Given the description of an element on the screen output the (x, y) to click on. 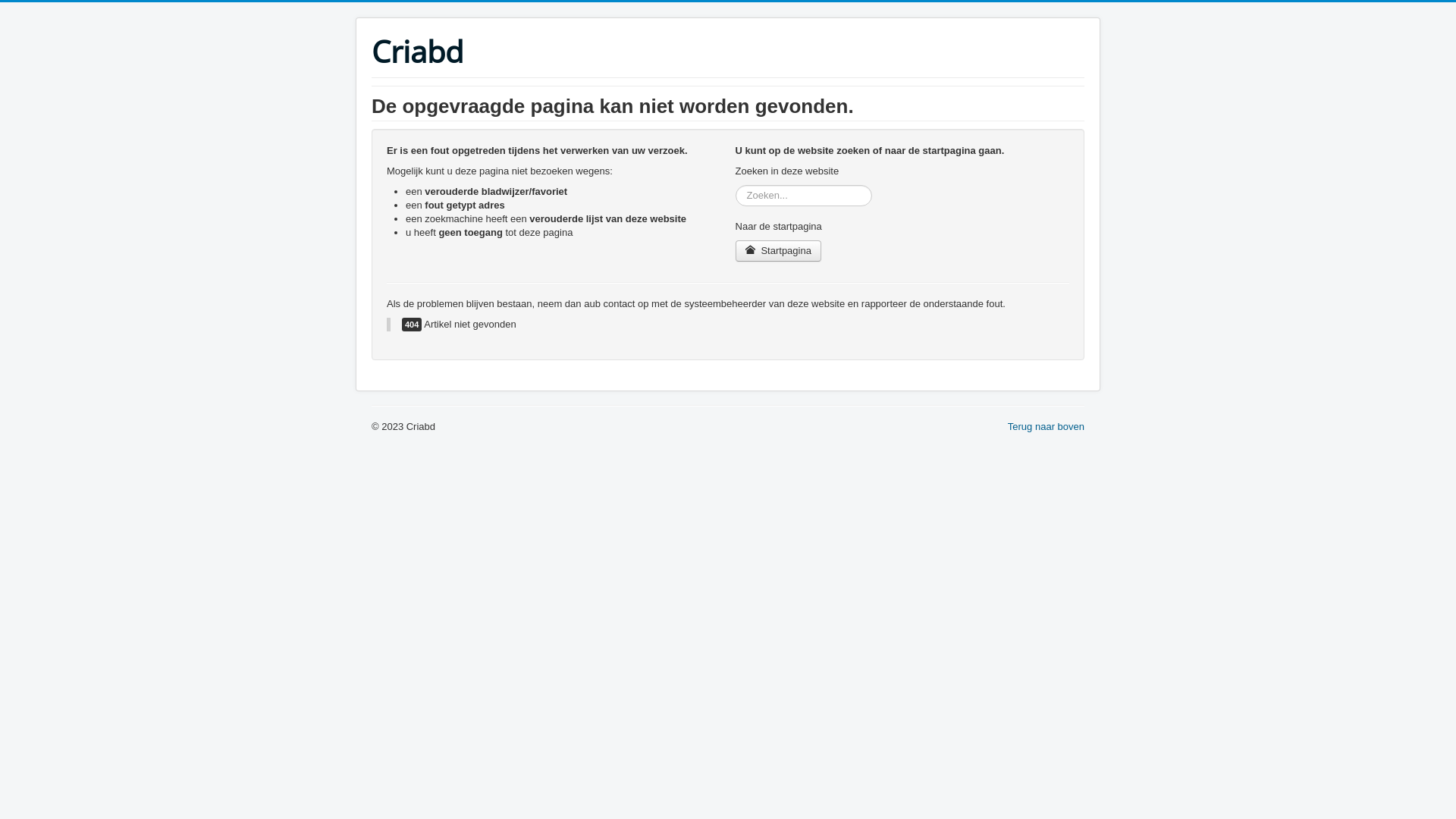
Startpagina Element type: text (778, 250)
Criabd Element type: text (417, 51)
Terug naar boven Element type: text (1045, 426)
